Given the description of an element on the screen output the (x, y) to click on. 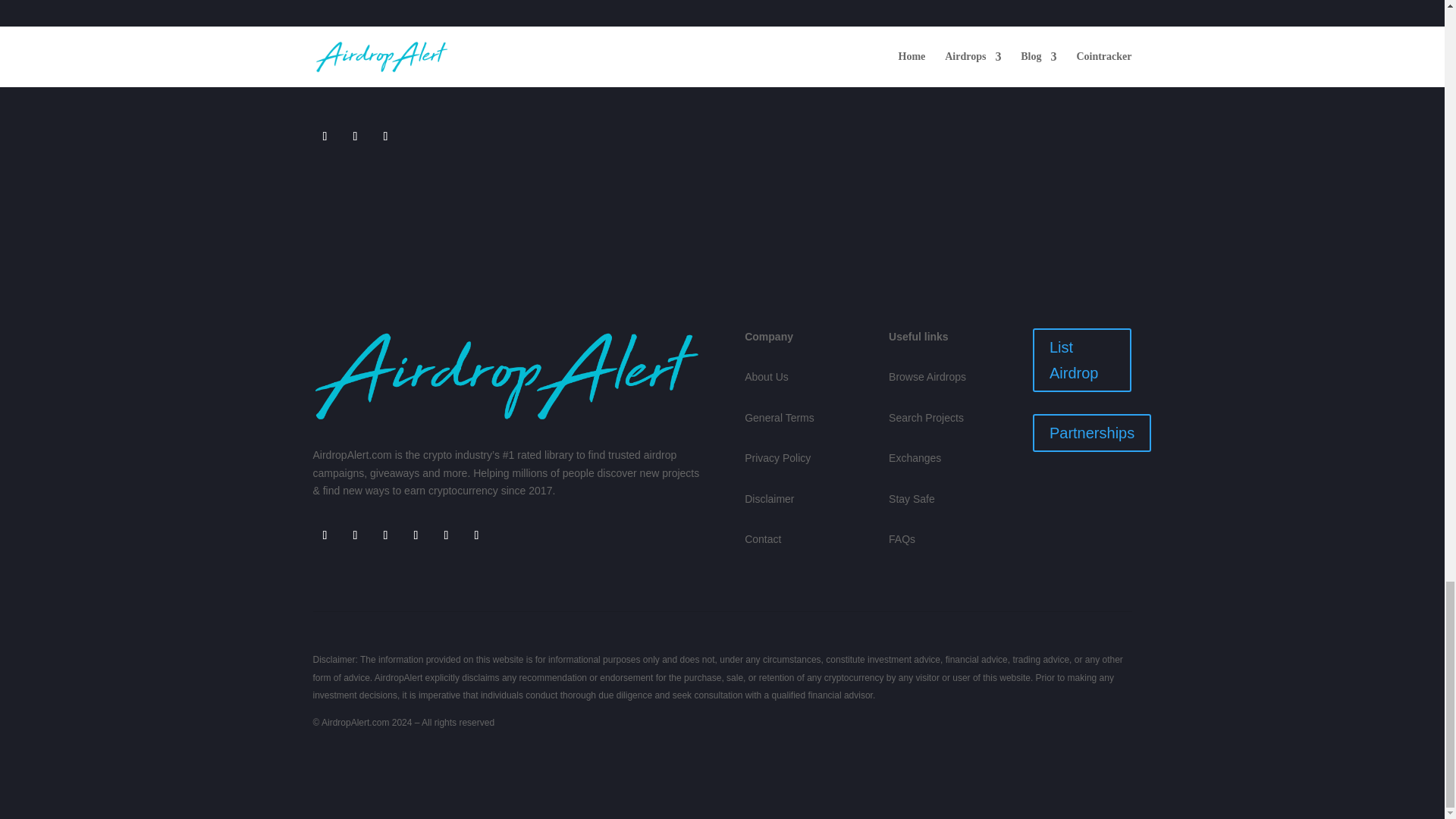
Follow on X (354, 535)
Follow on Youtube (445, 535)
Follow on X (324, 136)
Follow on Instagram (415, 535)
Follow on Facebook (384, 136)
Follow on LinkedIn (475, 535)
Follow on Facebook (384, 535)
Follow on Telegram (324, 535)
airdrop-alert-logo (505, 376)
Follow on Telegram (354, 136)
